Given the description of an element on the screen output the (x, y) to click on. 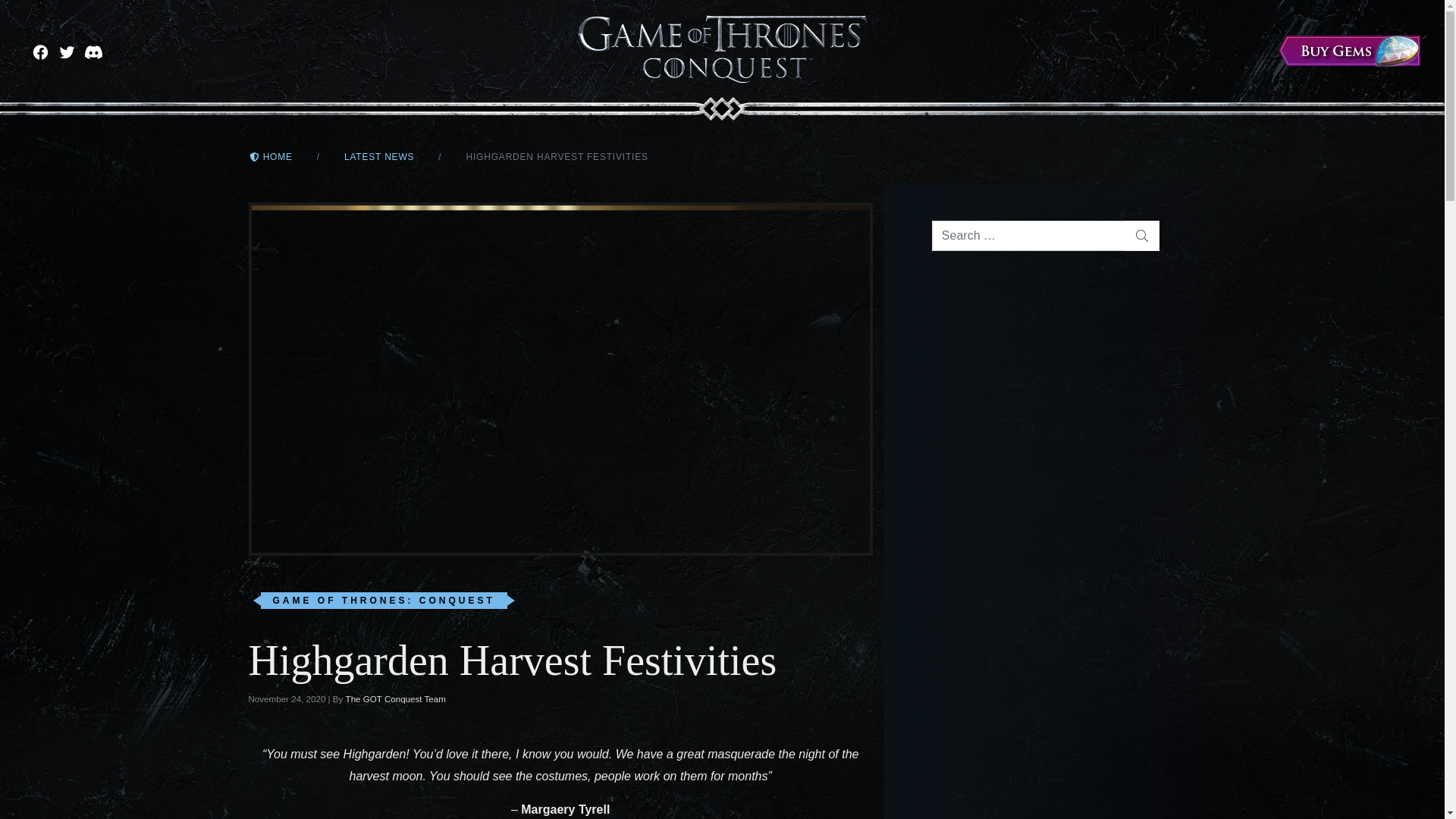
GAME OF THRONES: CONQUEST (383, 600)
The GOT Conquest Team (395, 699)
LATEST NEWS (378, 156)
Search (1141, 235)
HOME (270, 156)
